Given the description of an element on the screen output the (x, y) to click on. 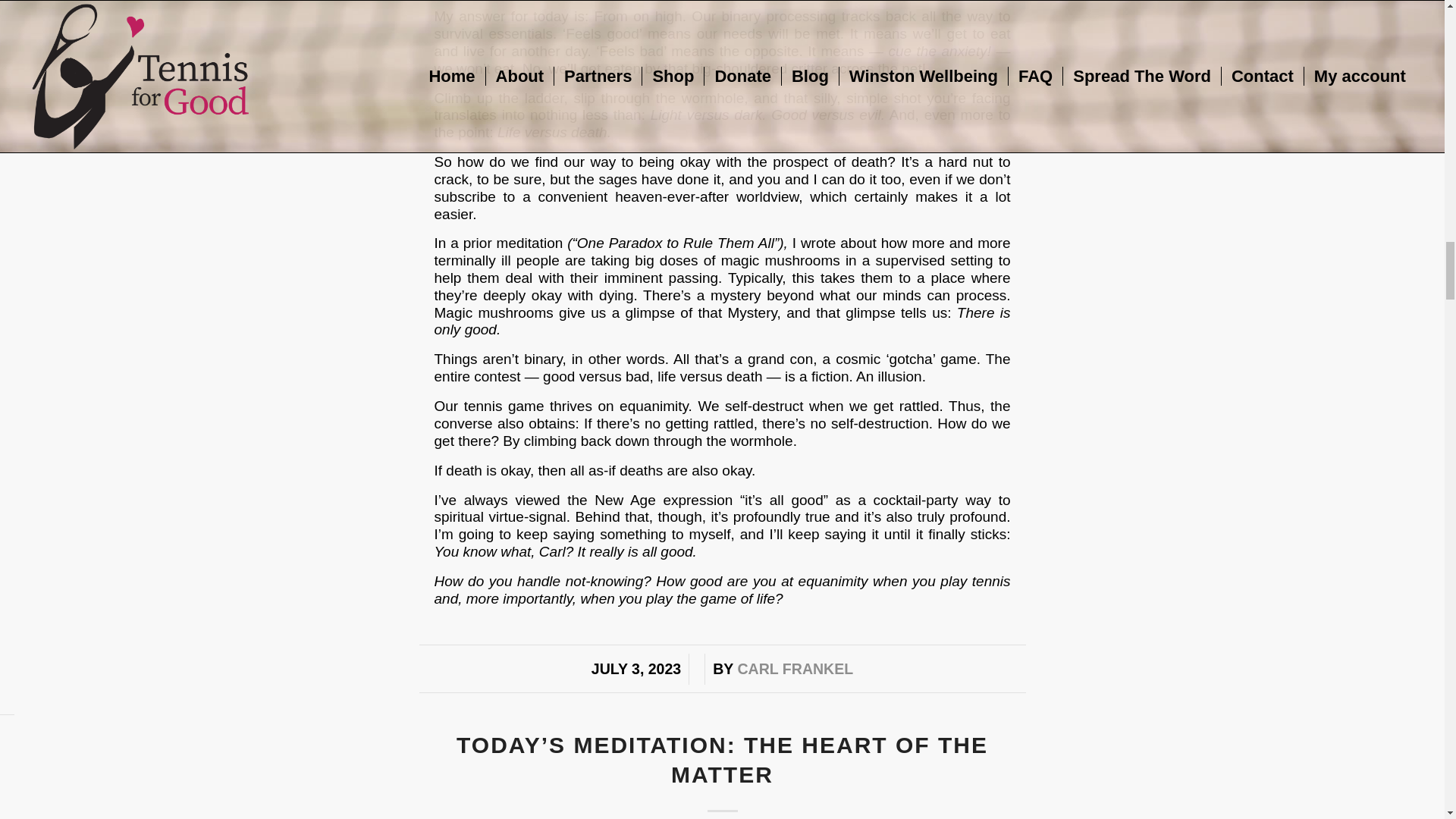
CARL FRANKEL (794, 668)
